Given the description of an element on the screen output the (x, y) to click on. 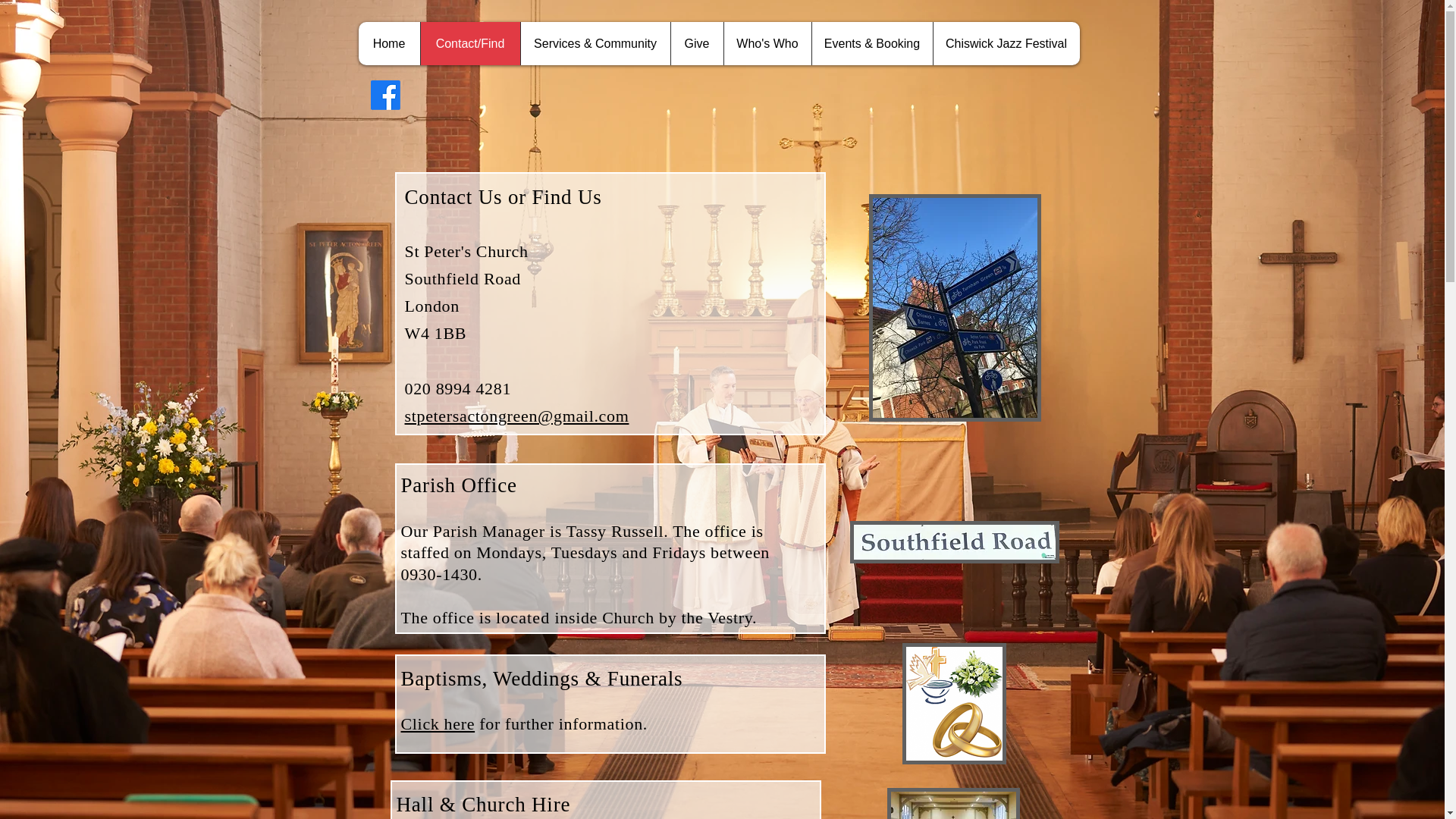
Home (388, 43)
Give (696, 43)
Who's Who (766, 43)
Click here (437, 723)
Chiswick Jazz Festival (1006, 43)
